Given the description of an element on the screen output the (x, y) to click on. 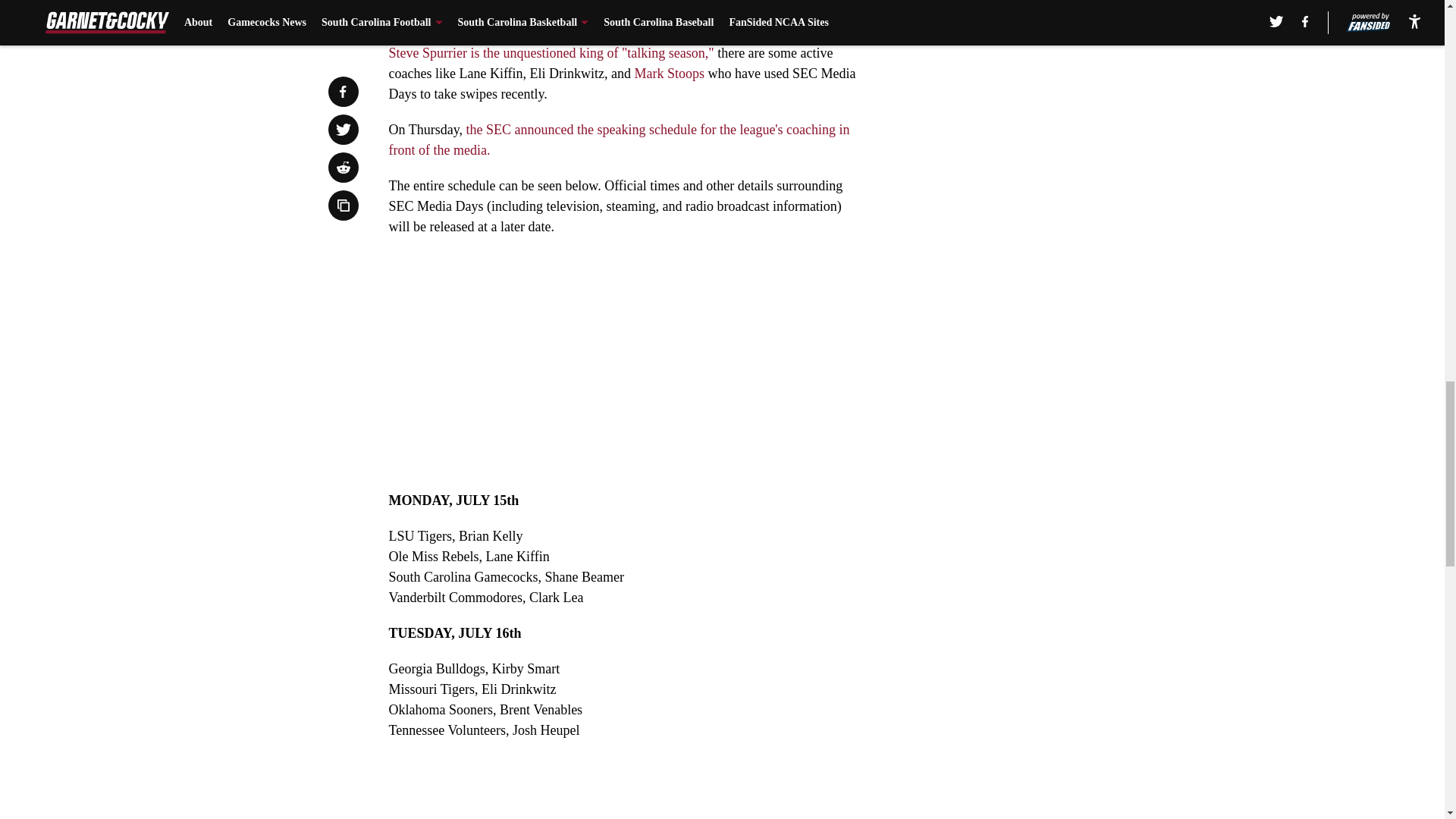
Mark Stoops (669, 73)
Steve Spurrier is the unquestioned king of "talking season," (550, 52)
